Given the description of an element on the screen output the (x, y) to click on. 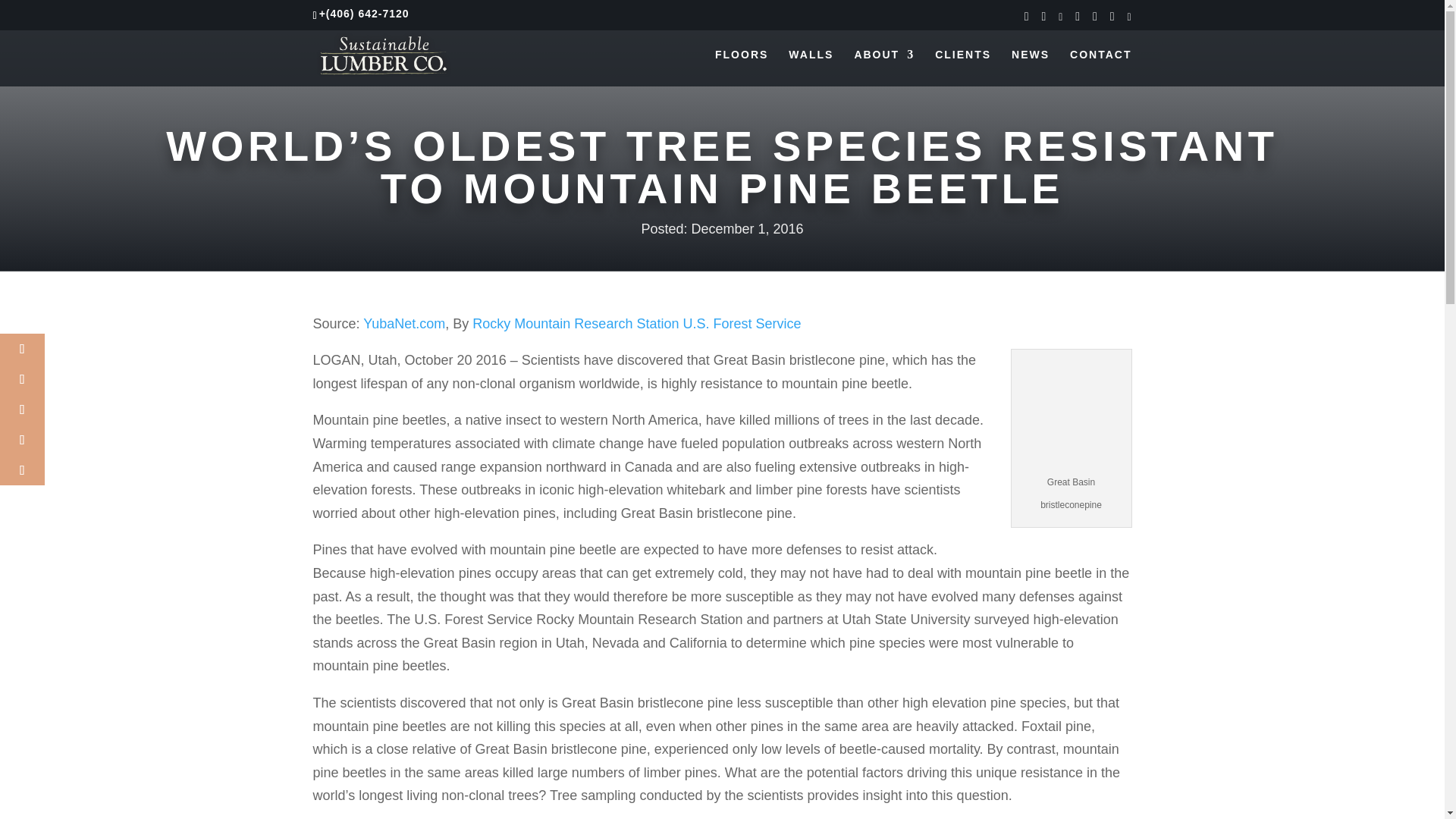
CONTACT (1100, 67)
Share on Facebook (22, 348)
NEWS (1030, 67)
FLOORS (741, 67)
WALLS (810, 67)
Tweet (22, 378)
ABOUT (883, 67)
Pin it (22, 440)
Rocky Mountain Research Station U.S. Forest Service (635, 323)
CLIENTS (962, 67)
